Given the description of an element on the screen output the (x, y) to click on. 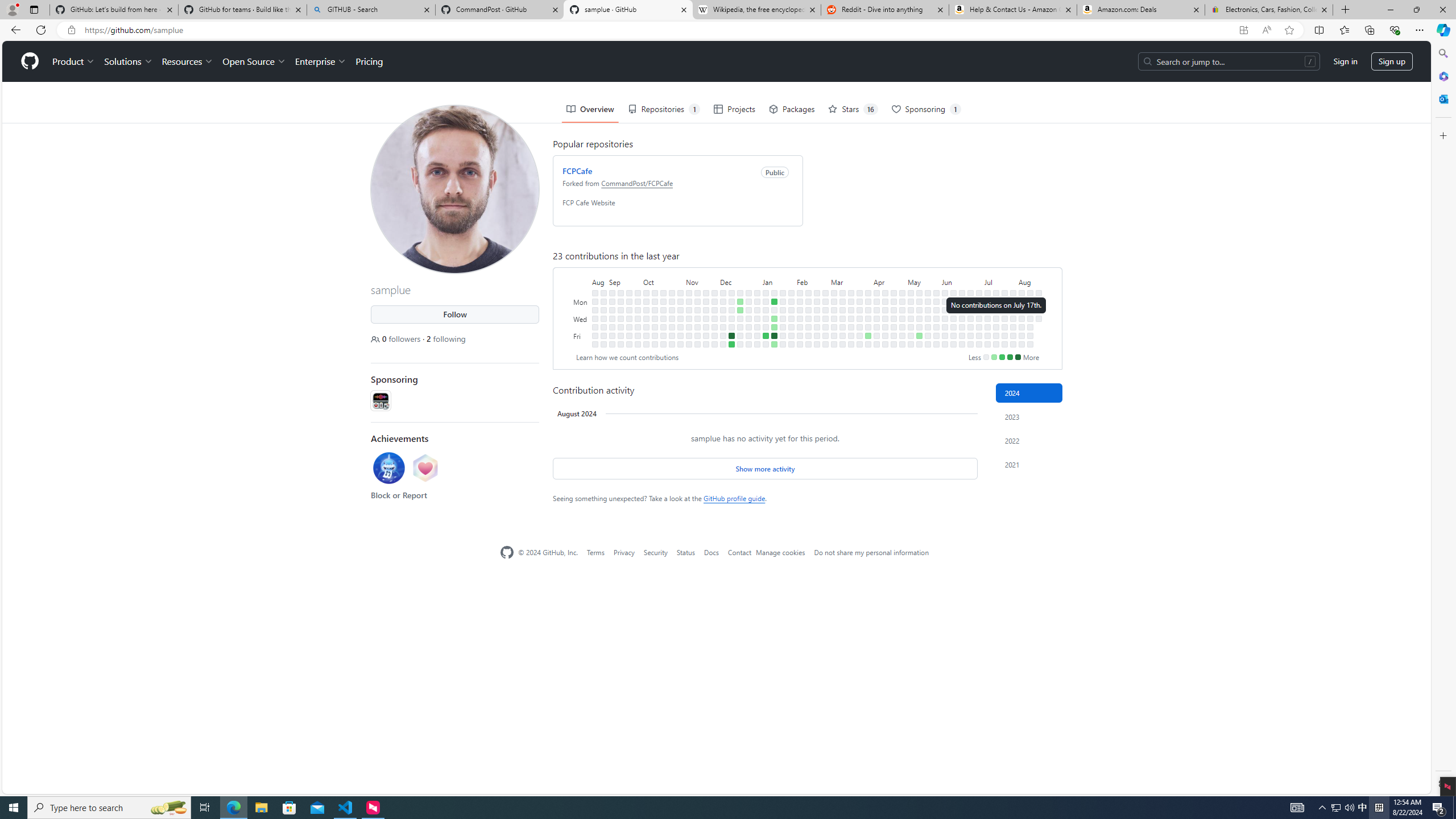
No contributions on March 6th. (834, 318)
No contributions on December 20th. (740, 318)
No contributions on January 25th. (783, 326)
Pricing (368, 60)
No contributions on September 3rd. (611, 292)
No contributions on March 23rd. (850, 343)
Product (74, 60)
No contributions on February 19th. (816, 301)
App available. Install GitHub (1243, 29)
No contributions on November 17th. (697, 335)
No contributions on November 16th. (697, 326)
No contributions on December 5th. (723, 309)
No contributions on December 31st. (757, 292)
No contributions on November 1st. (680, 318)
No contributions on September 28th. (637, 326)
